Given the description of an element on the screen output the (x, y) to click on. 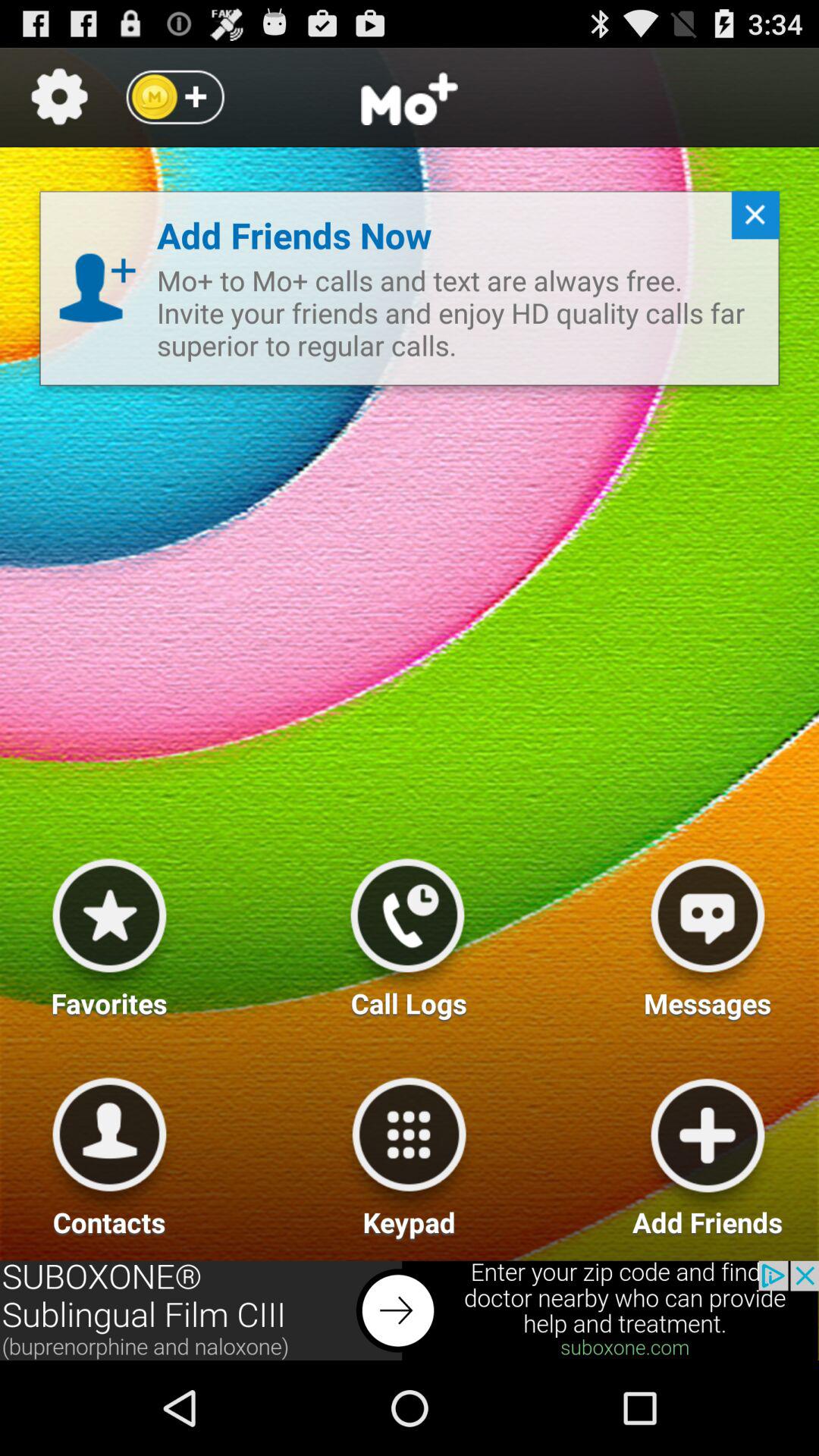
go to contact button (109, 1151)
